Given the description of an element on the screen output the (x, y) to click on. 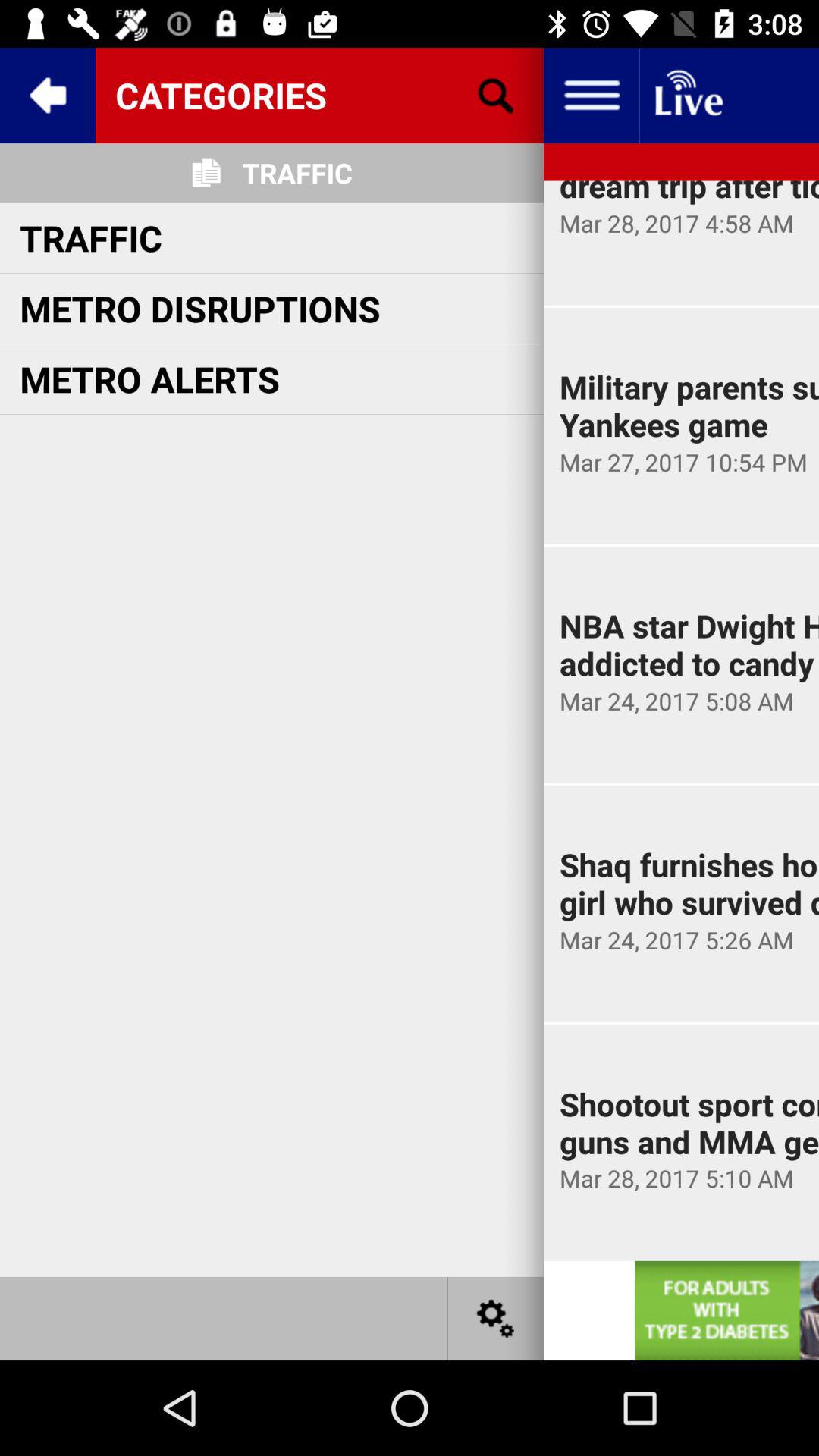
select the setting option (495, 1318)
